Given the description of an element on the screen output the (x, y) to click on. 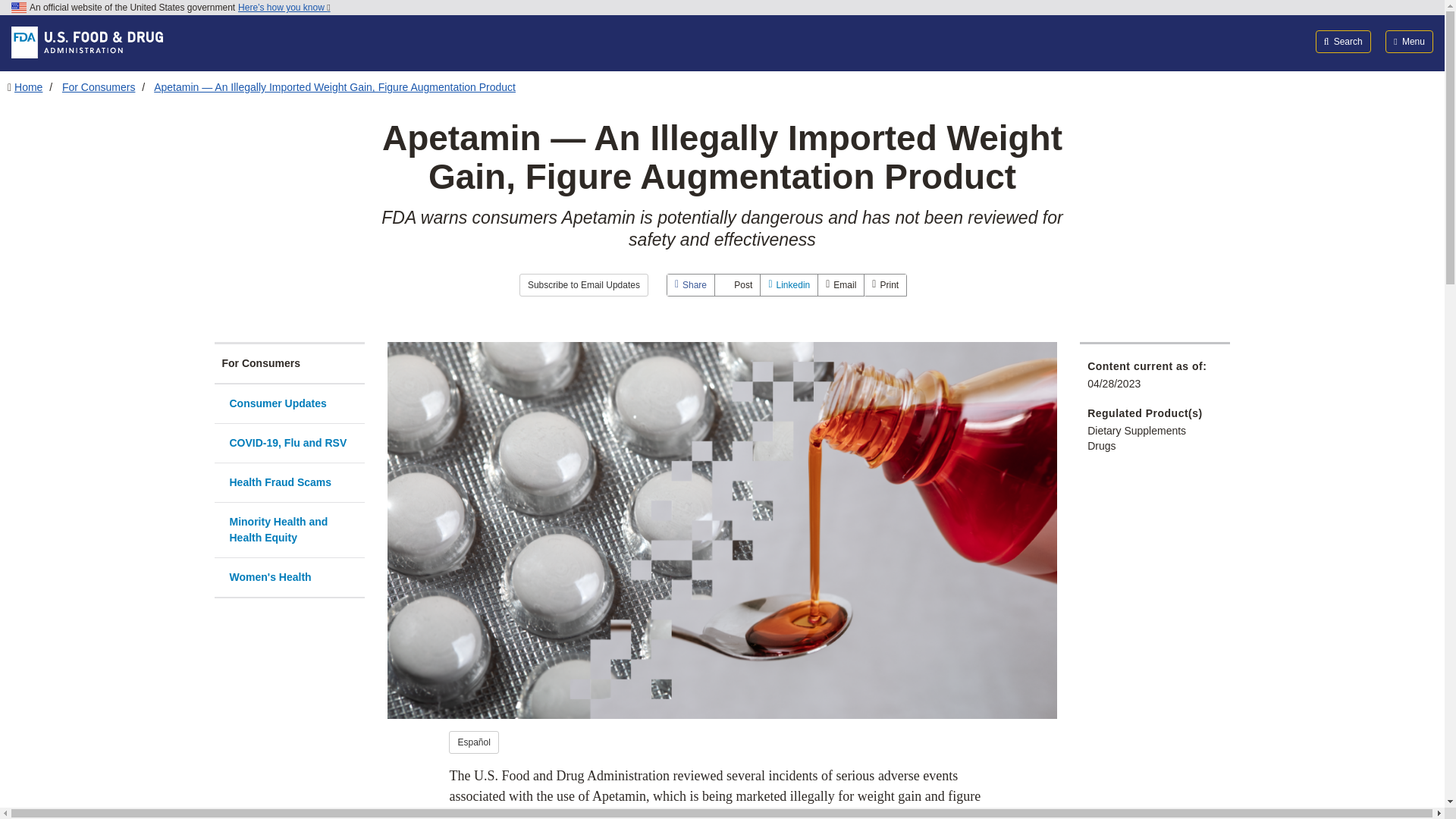
  Menu (1409, 41)
Print this page (884, 284)
  Search (1343, 41)
